Given the description of an element on the screen output the (x, y) to click on. 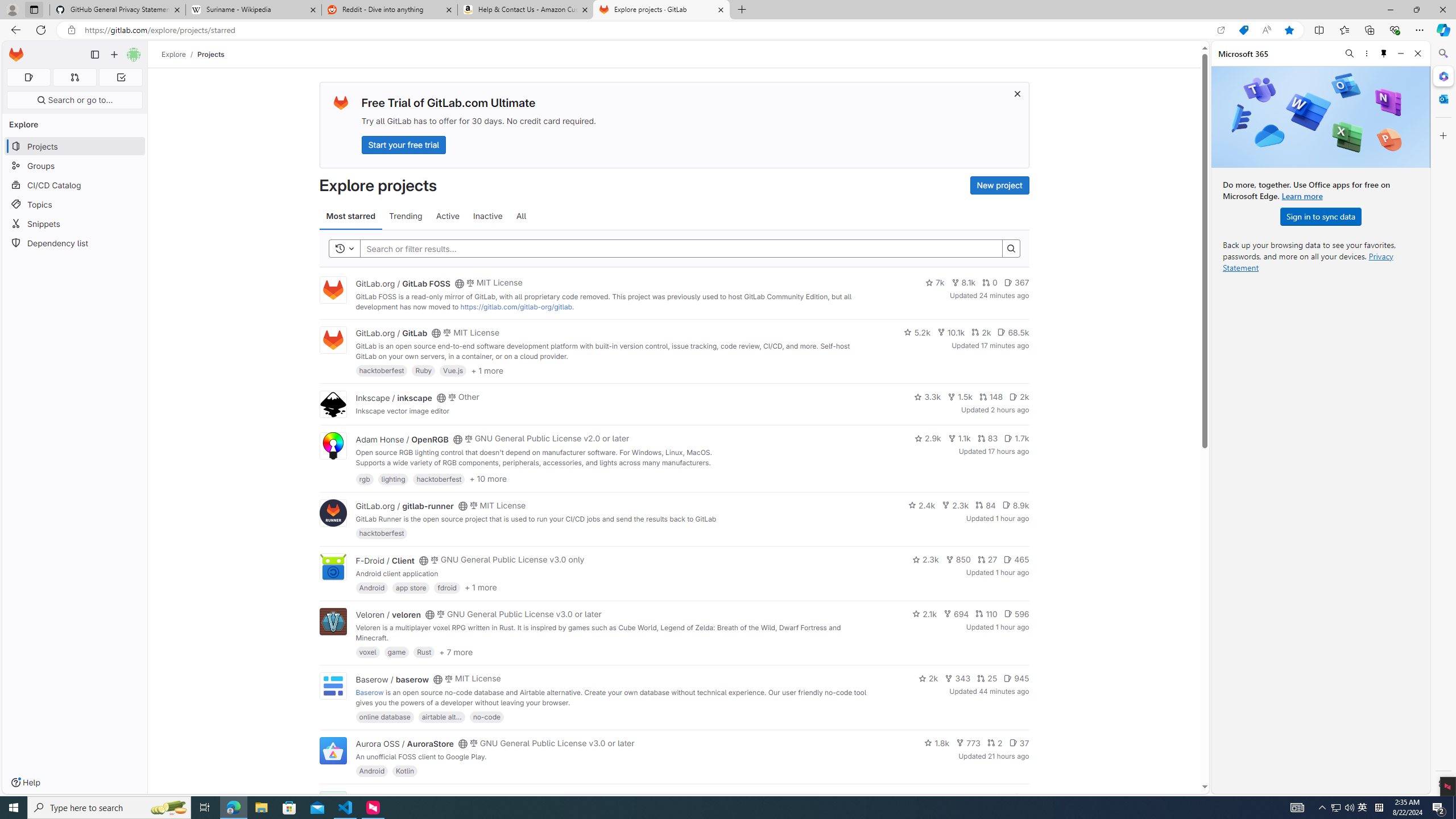
Dependency list (74, 242)
1.7k (1016, 438)
27 (986, 559)
2.4k (921, 504)
Class: project (332, 750)
hacktoberfest (381, 533)
Inactive (487, 216)
+ 1 more (480, 587)
Assigned issues 0 (28, 76)
68.5k (1013, 331)
